Given the description of an element on the screen output the (x, y) to click on. 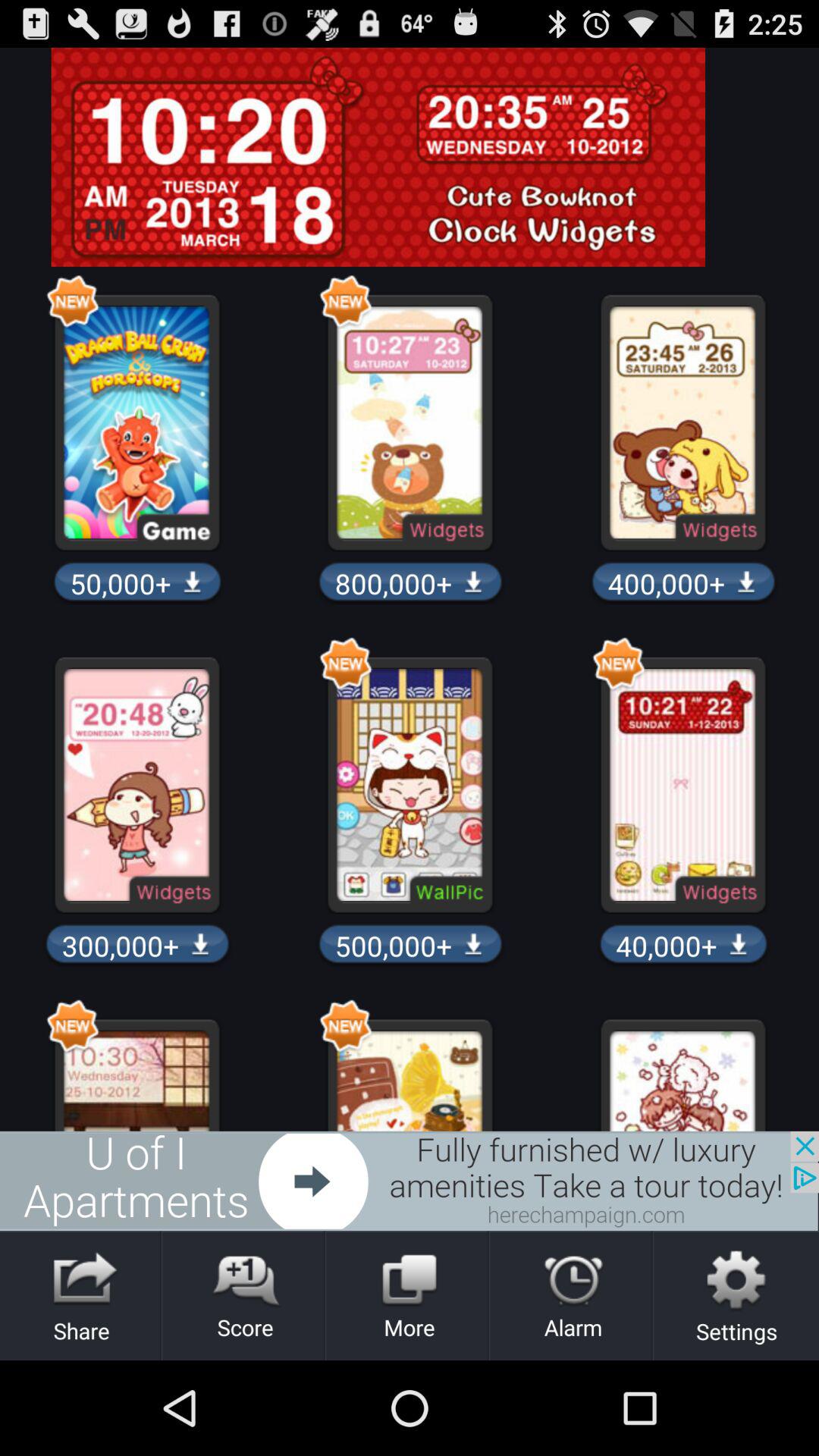
clock widgets (409, 156)
